Given the description of an element on the screen output the (x, y) to click on. 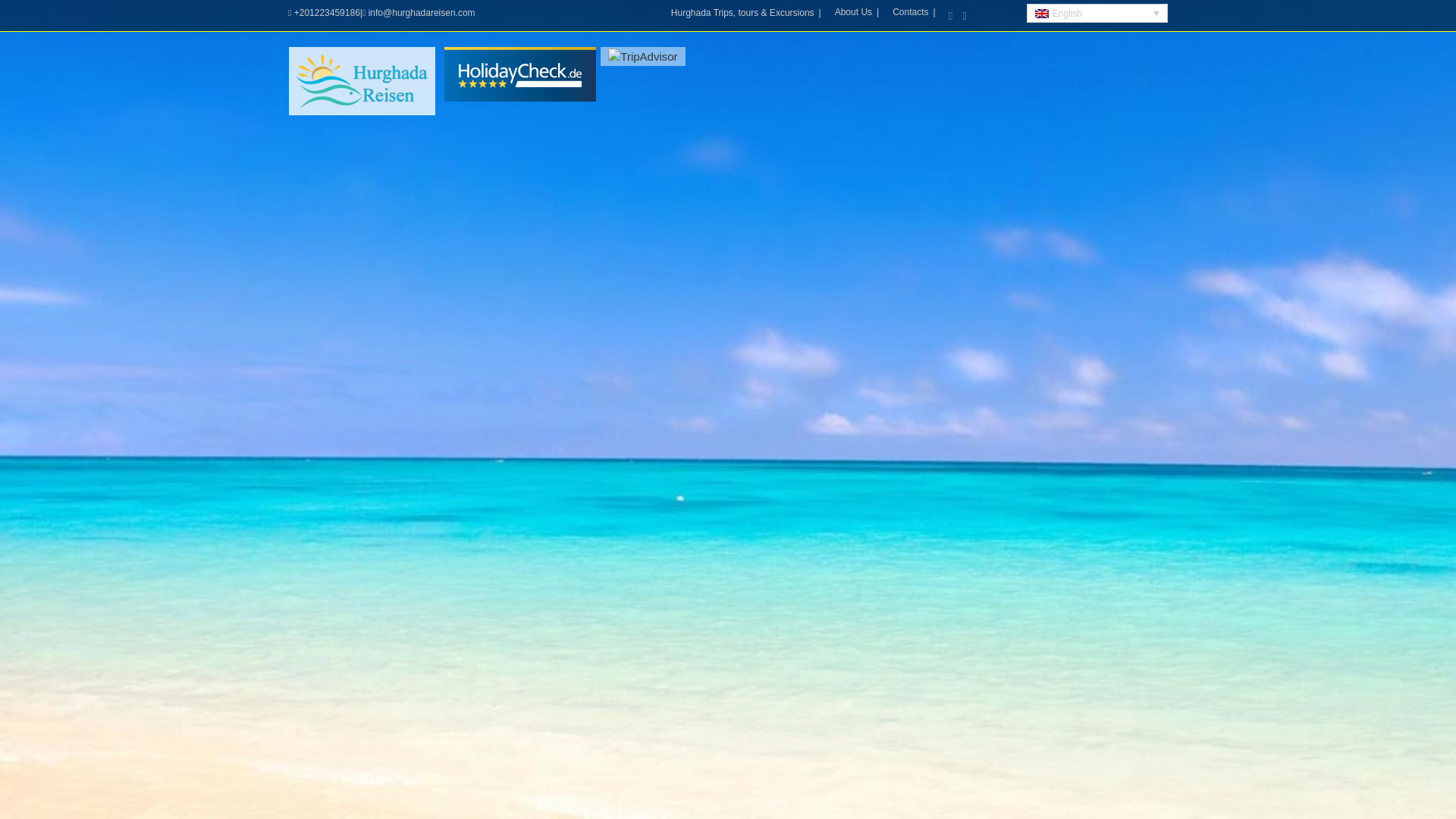
English (1096, 13)
Contacts (915, 11)
About Us (858, 11)
